Given the description of an element on the screen output the (x, y) to click on. 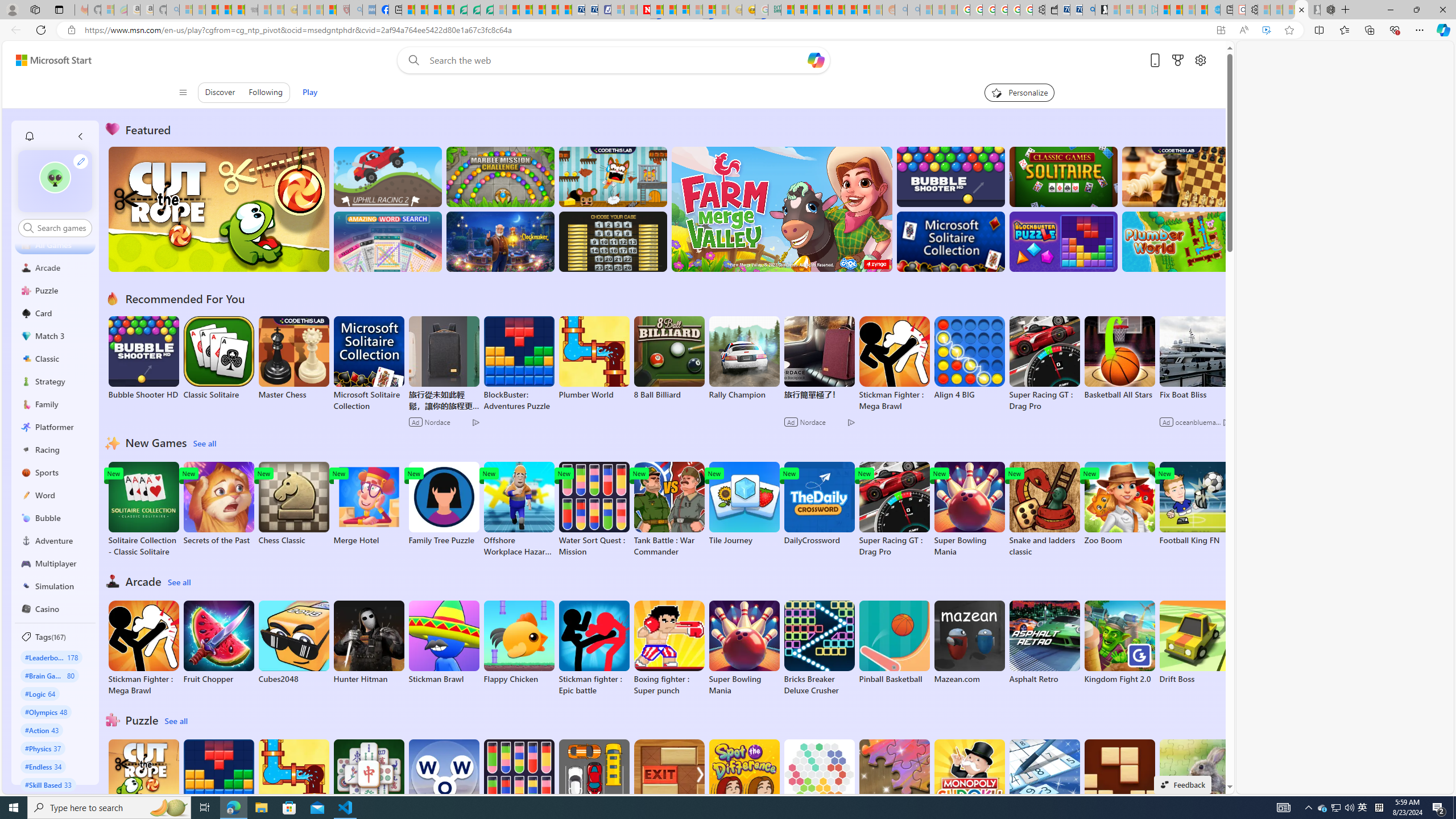
Master Chess (293, 358)
Microsoft Word - consumer-privacy address update 2.2021 (486, 9)
Deal or No Deal (612, 241)
Class: control icon-only (182, 92)
Bing Real Estate - Home sales and rental listings (1088, 9)
Cubes2048 (293, 642)
Zoo Boom (1119, 503)
14 Common Myths Debunked By Scientific Facts (669, 9)
Student Loan Update: Forgiveness Program Ends This Month (826, 9)
Stickman fighter : Epic battle (593, 648)
Offshore Workplace Hazard Game (518, 509)
